Given the description of an element on the screen output the (x, y) to click on. 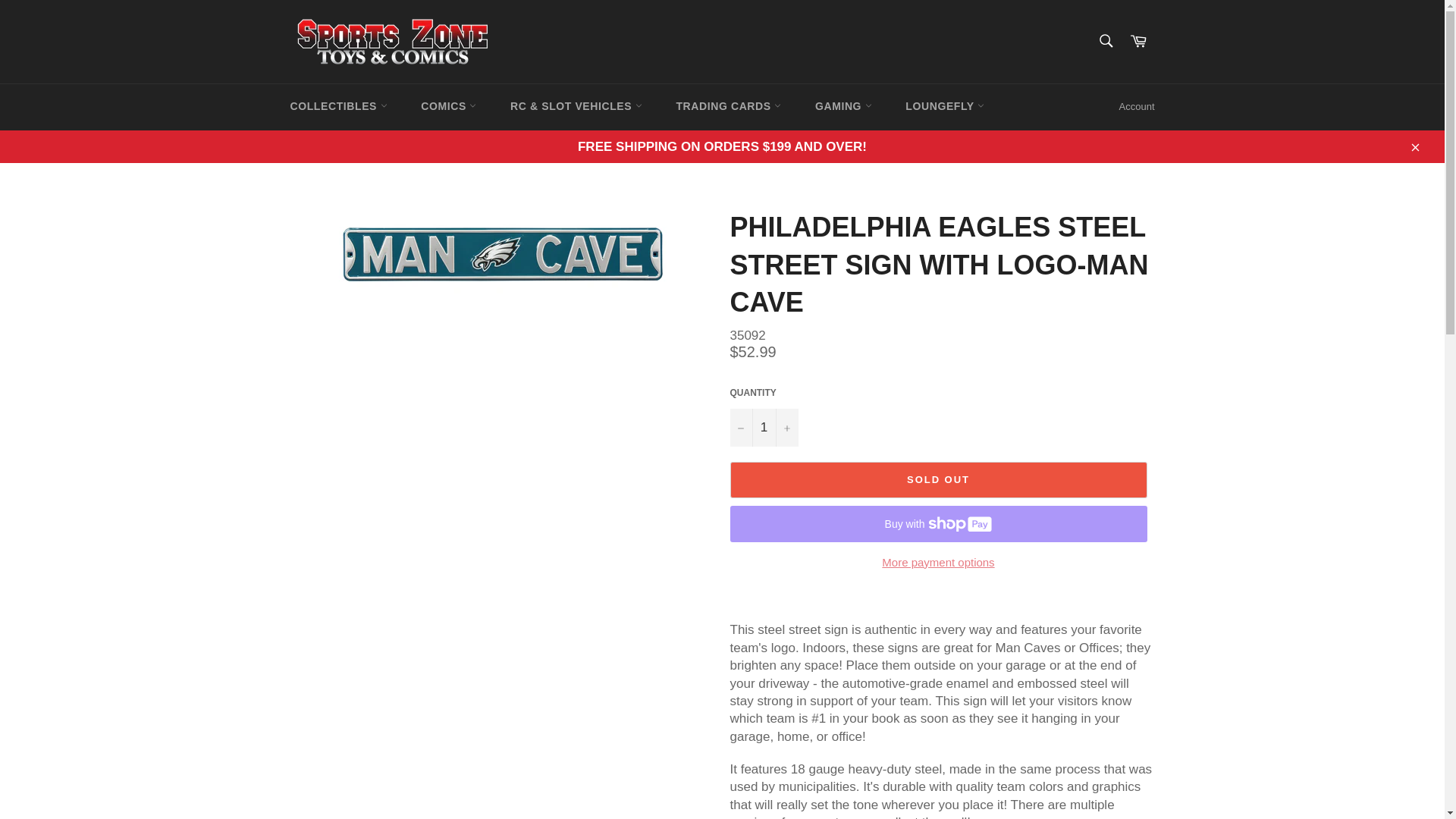
1 (763, 426)
